Given the description of an element on the screen output the (x, y) to click on. 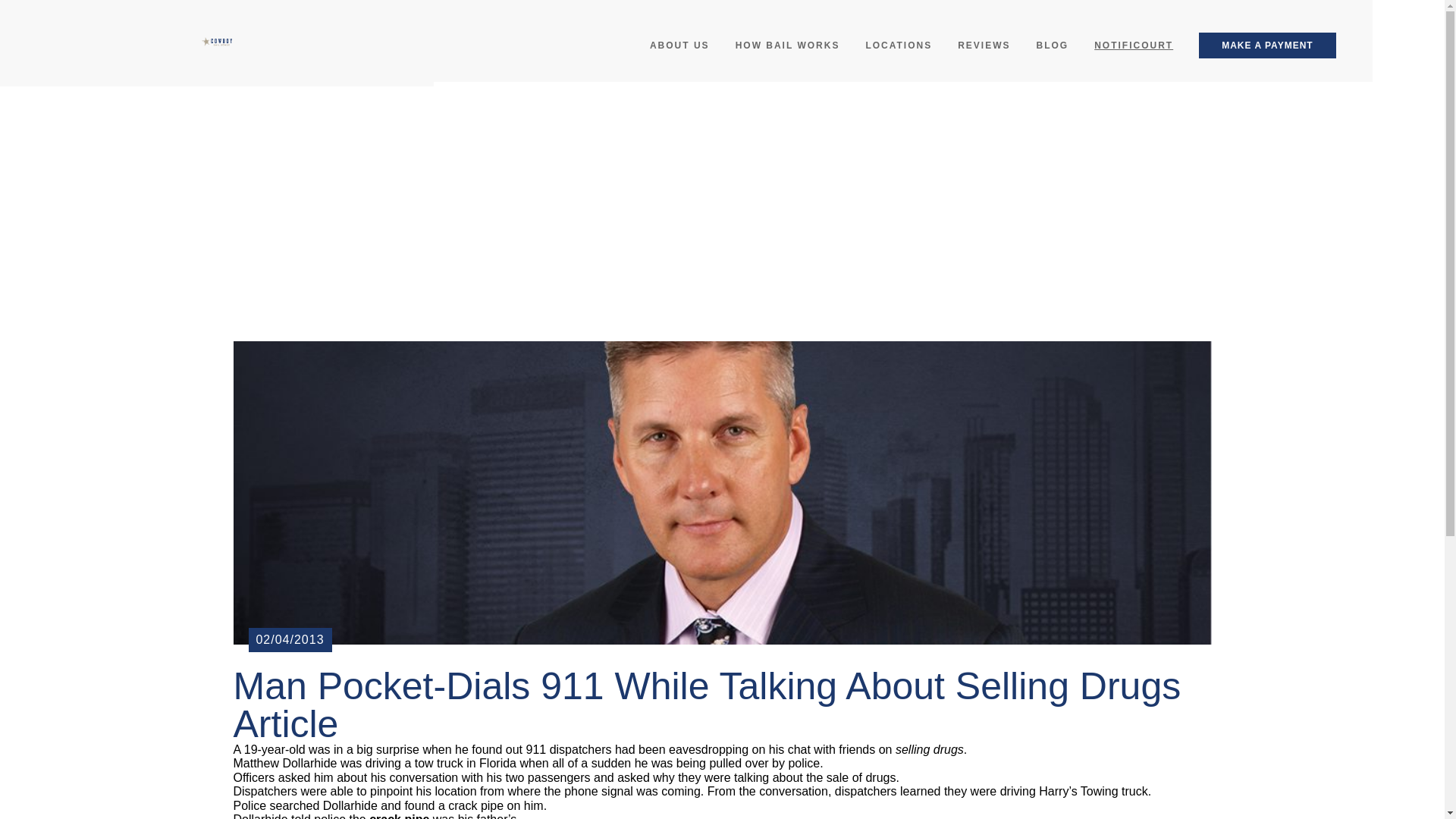
NOTIFICOURT (1133, 45)
HOW BAIL WORKS (787, 45)
ABOUT US (679, 45)
MAKE A PAYMENT (1266, 45)
LOCATIONS (898, 45)
REVIEWS (983, 45)
BLOG (1053, 45)
